Given the description of an element on the screen output the (x, y) to click on. 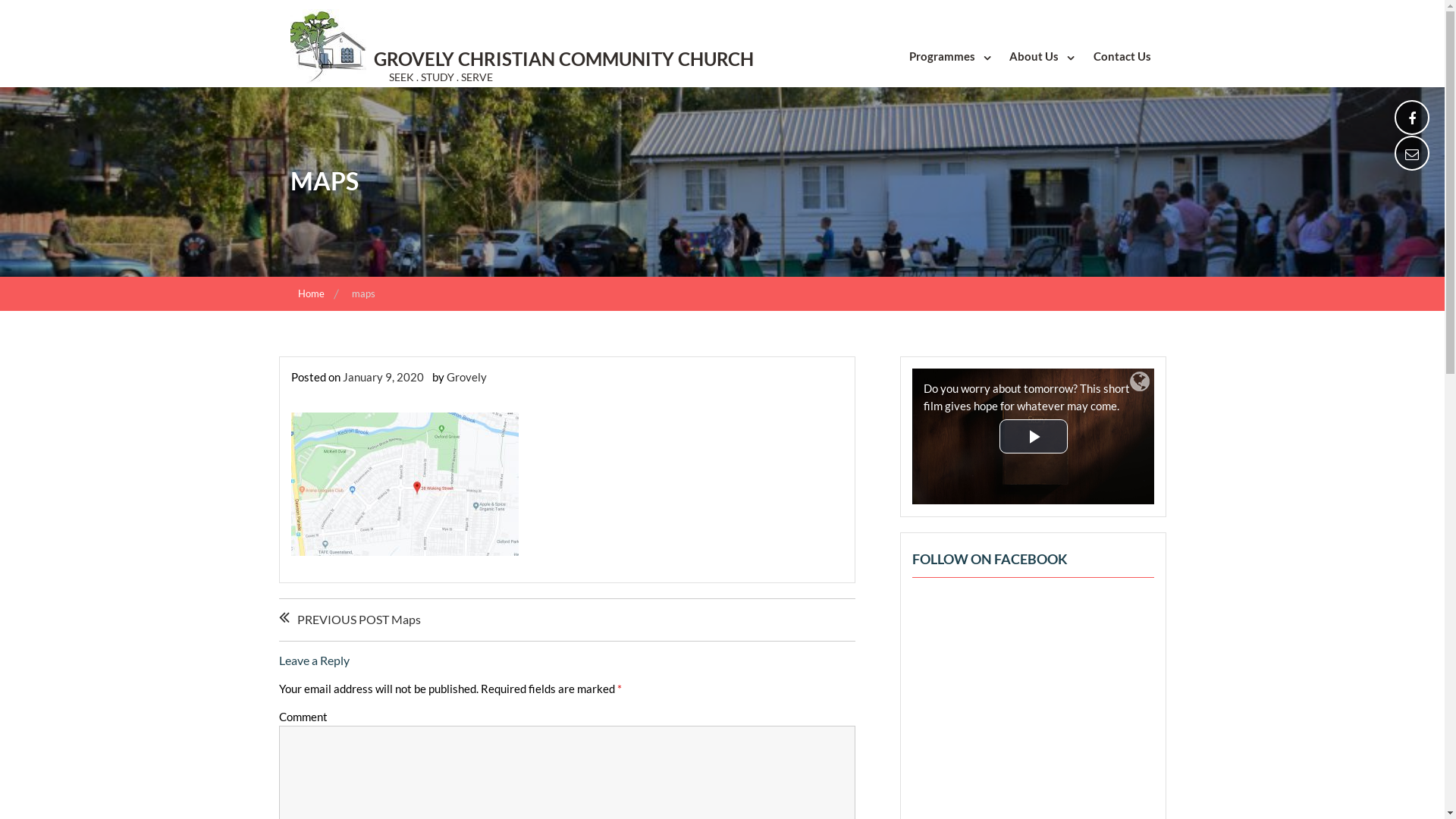
Programmes Element type: text (947, 56)
Grovely Element type: text (465, 376)
January 9, 2020 Element type: text (382, 376)
Contact Us Element type: text (1121, 56)
PREVIOUS POST
Previous Post:
Maps Element type: text (355, 619)
Home Element type: text (312, 293)
About Us Element type: text (1039, 56)
GROVELY CHRISTIAN COMMUNITY CHURCH Element type: text (563, 58)
